Given the description of an element on the screen output the (x, y) to click on. 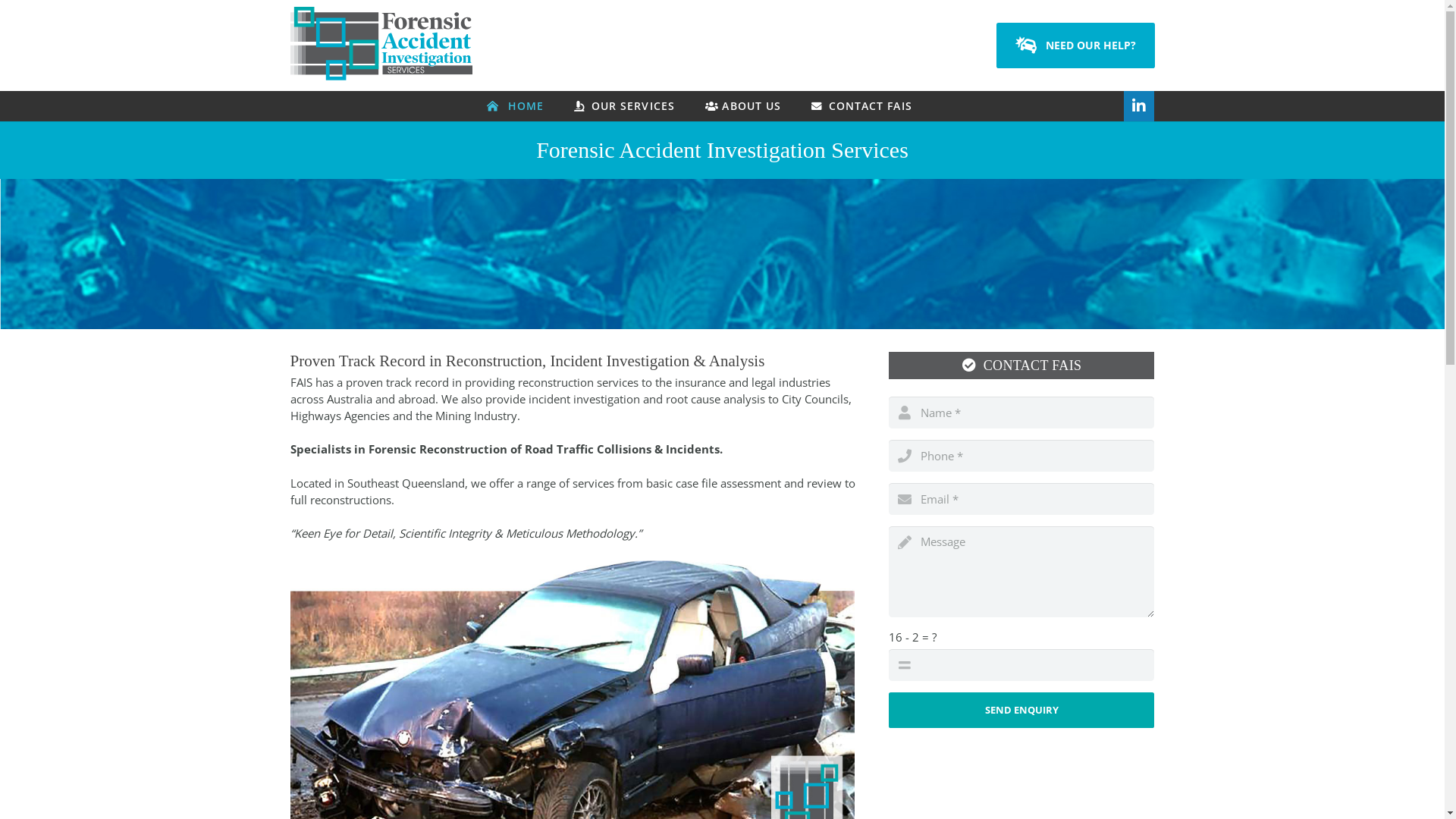
OUR SERVICES Element type: text (624, 106)
NEED OUR HELP? Element type: text (1075, 45)
  HOME Element type: text (514, 106)
Forensic Accident Investigation Services Element type: text (380, 75)
LinkedIn Element type: hover (1138, 106)
CONTACT FAIS Element type: text (861, 106)
ABOUT US Element type: text (743, 106)
SEND ENQUIRY Element type: text (1021, 710)
